Given the description of an element on the screen output the (x, y) to click on. 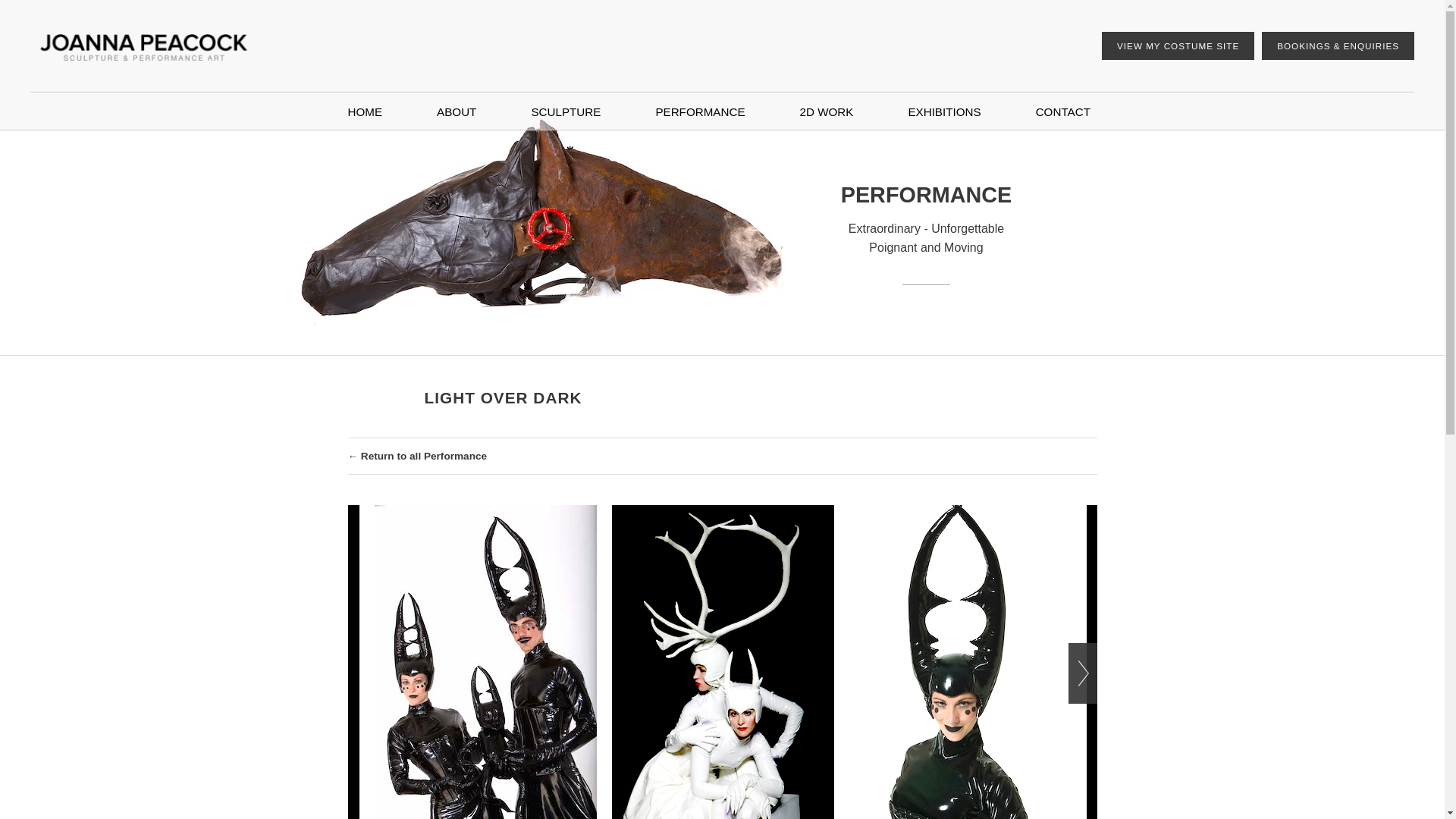
EXHIBITIONS (943, 112)
ABOUT (456, 112)
Next (1081, 672)
CONTACT (1062, 112)
VIEW MY COSTUME SITE (1177, 45)
SCULPTURE (565, 112)
HOME (364, 112)
Previous (361, 672)
PERFORMANCE (699, 112)
Joanna Peacock (143, 47)
2D WORK (826, 112)
